Given the description of an element on the screen output the (x, y) to click on. 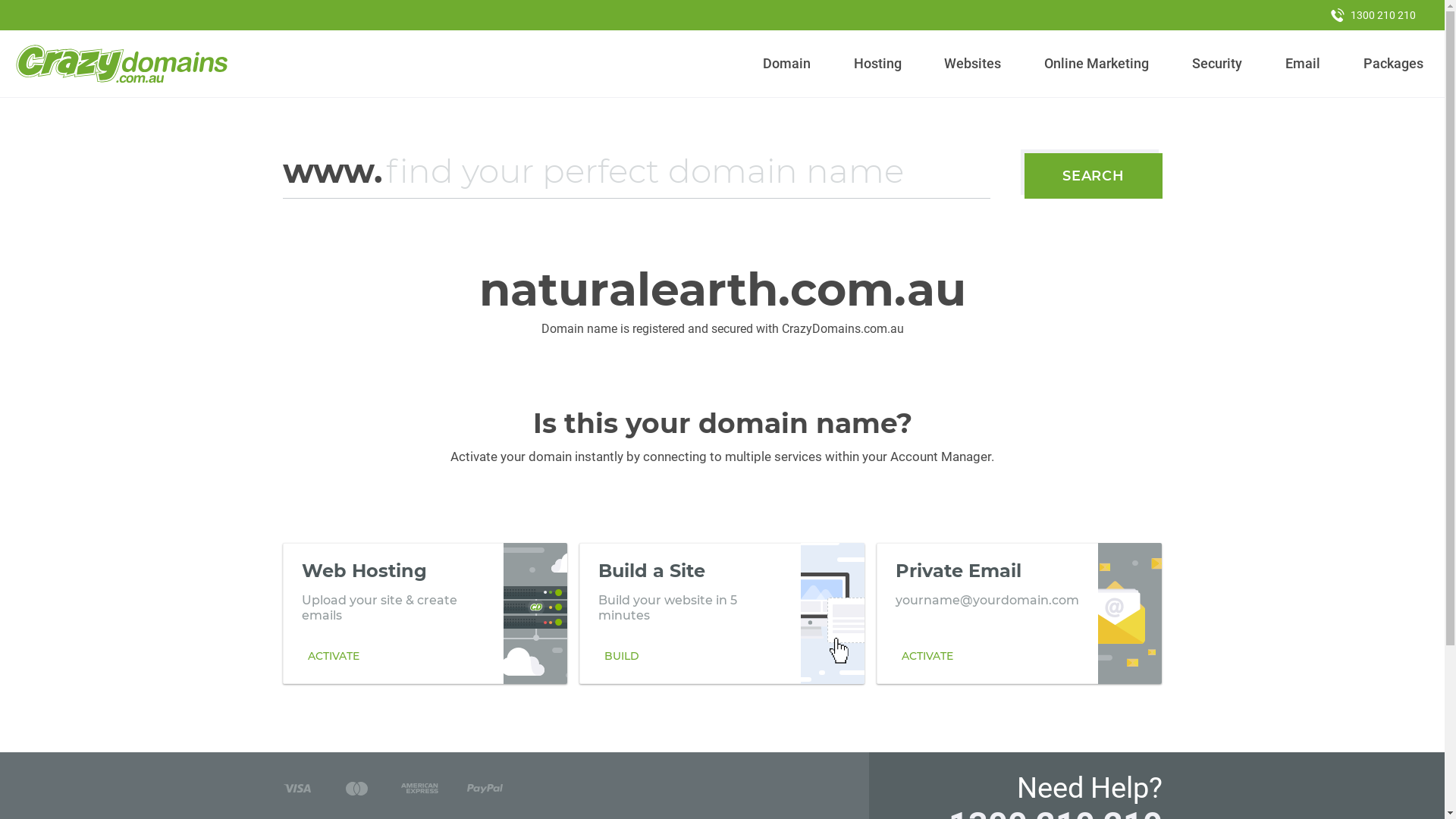
Security Element type: text (1217, 63)
Web Hosting
Upload your site & create emails
ACTIVATE Element type: text (424, 613)
Domain Element type: text (786, 63)
Email Element type: text (1302, 63)
1300 210 210 Element type: text (1373, 15)
Private Email
yourname@yourdomain.com
ACTIVATE Element type: text (1018, 613)
Build a Site
Build your website in 5 minutes
BUILD Element type: text (721, 613)
Hosting Element type: text (877, 63)
Online Marketing Element type: text (1096, 63)
SEARCH Element type: text (1092, 175)
Packages Element type: text (1392, 63)
Websites Element type: text (972, 63)
